Given the description of an element on the screen output the (x, y) to click on. 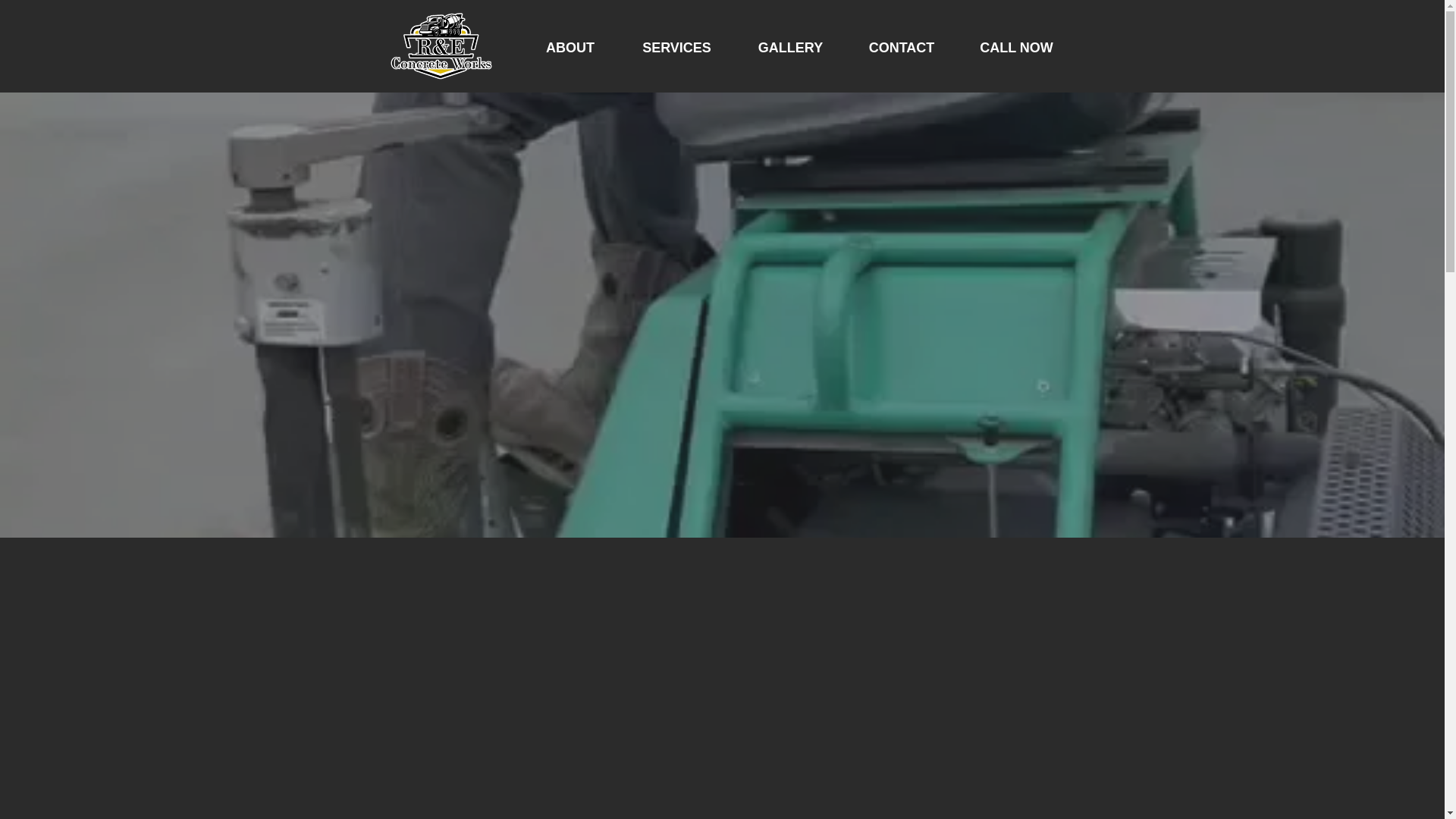
SERVICES (676, 46)
CALL NOW (1015, 46)
CONTACT (901, 46)
ABOUT (569, 46)
GALLERY (790, 46)
